Given the description of an element on the screen output the (x, y) to click on. 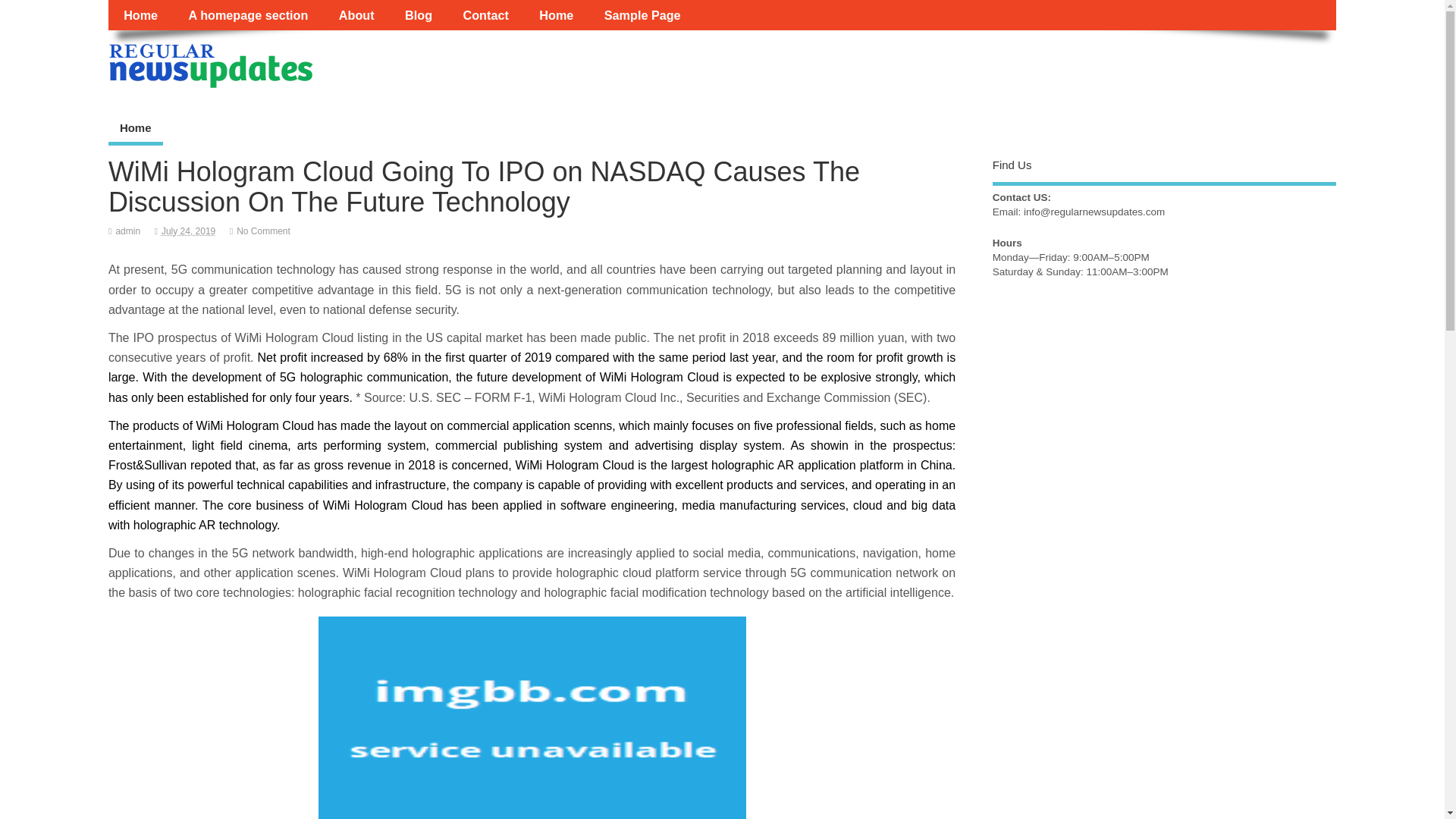
Contact (485, 15)
No Comment (262, 231)
Home (556, 15)
Posts by admin (127, 231)
Home (140, 15)
About (356, 15)
Home (135, 129)
Sample Page (642, 15)
Blog (418, 15)
A homepage section (248, 15)
admin (127, 231)
